Given the description of an element on the screen output the (x, y) to click on. 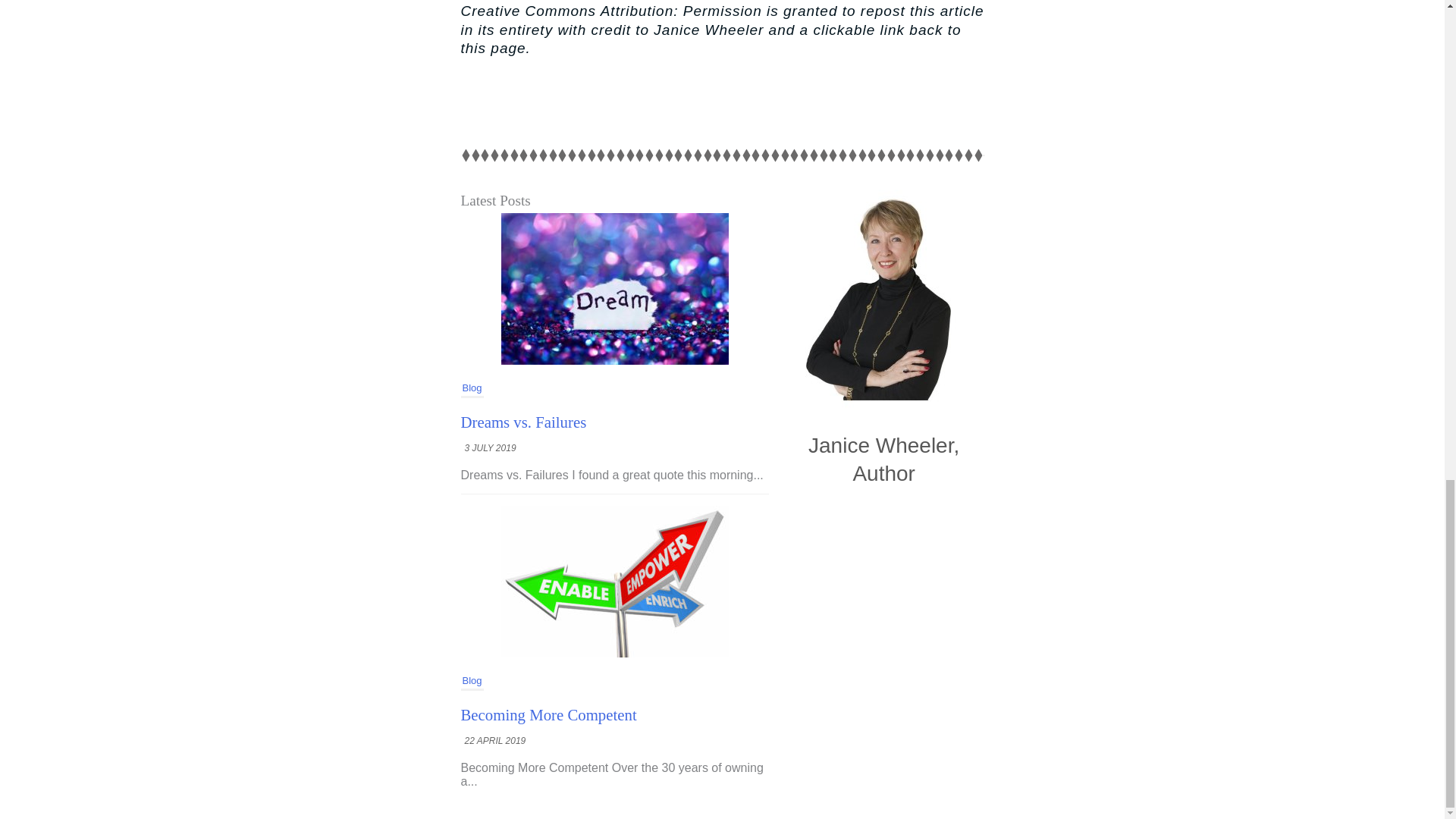
Becoming More Competent (549, 714)
Dreams vs. Failures (523, 421)
Blog (472, 681)
Blog (472, 389)
